Given the description of an element on the screen output the (x, y) to click on. 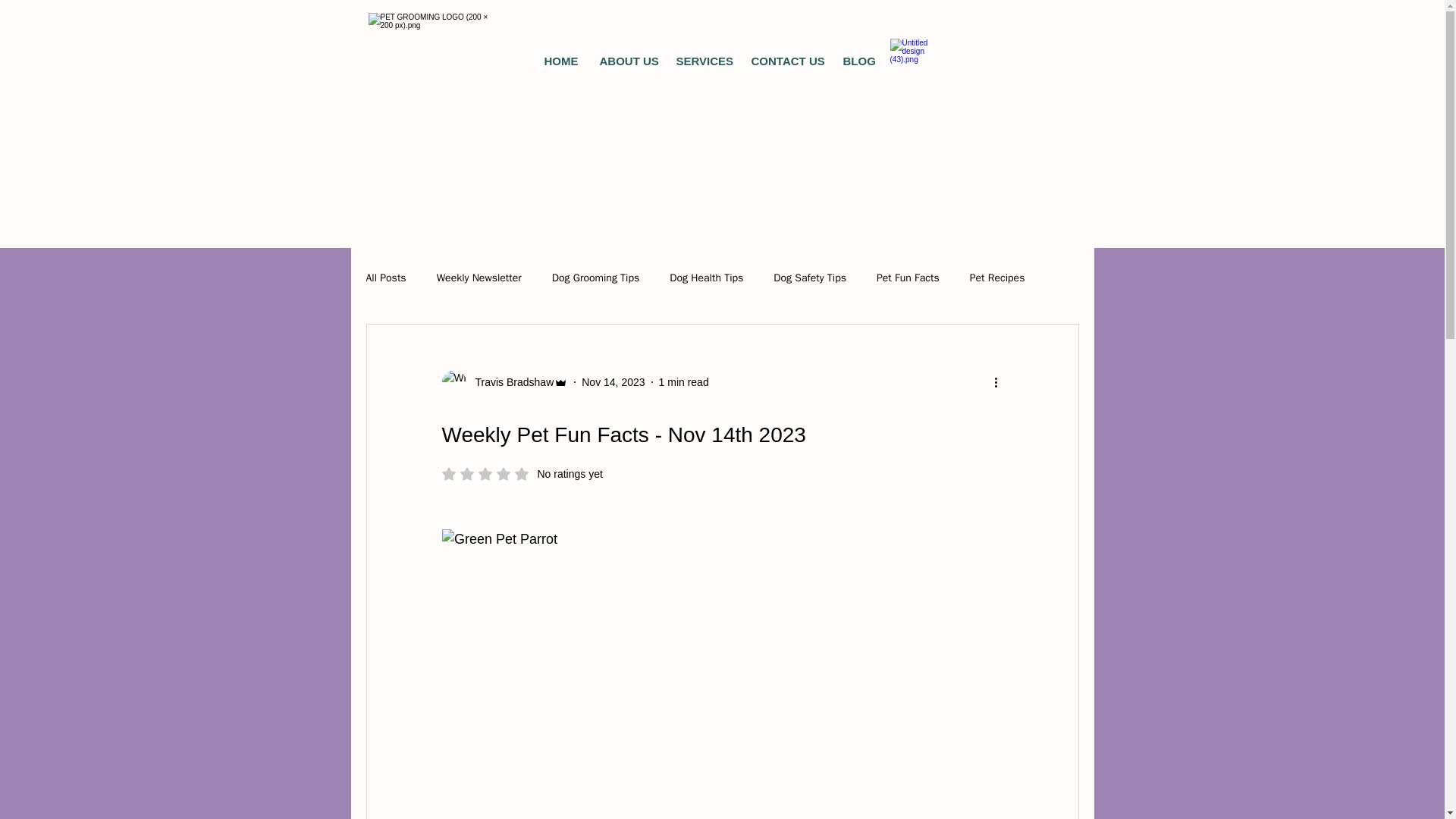
Travis Bradshaw (509, 382)
1 min read (684, 381)
CONTACT US (785, 60)
Dog Grooming Tips (595, 278)
Pet Fun Facts (907, 278)
Book Now (997, 60)
Pet Recipes (521, 473)
Dog Safety Tips (997, 278)
Weekly Newsletter (809, 278)
BLOG (478, 278)
Dog Health Tips (856, 60)
Nov 14, 2023 (705, 278)
All Posts (612, 381)
Travis Bradshaw (385, 278)
